Given the description of an element on the screen output the (x, y) to click on. 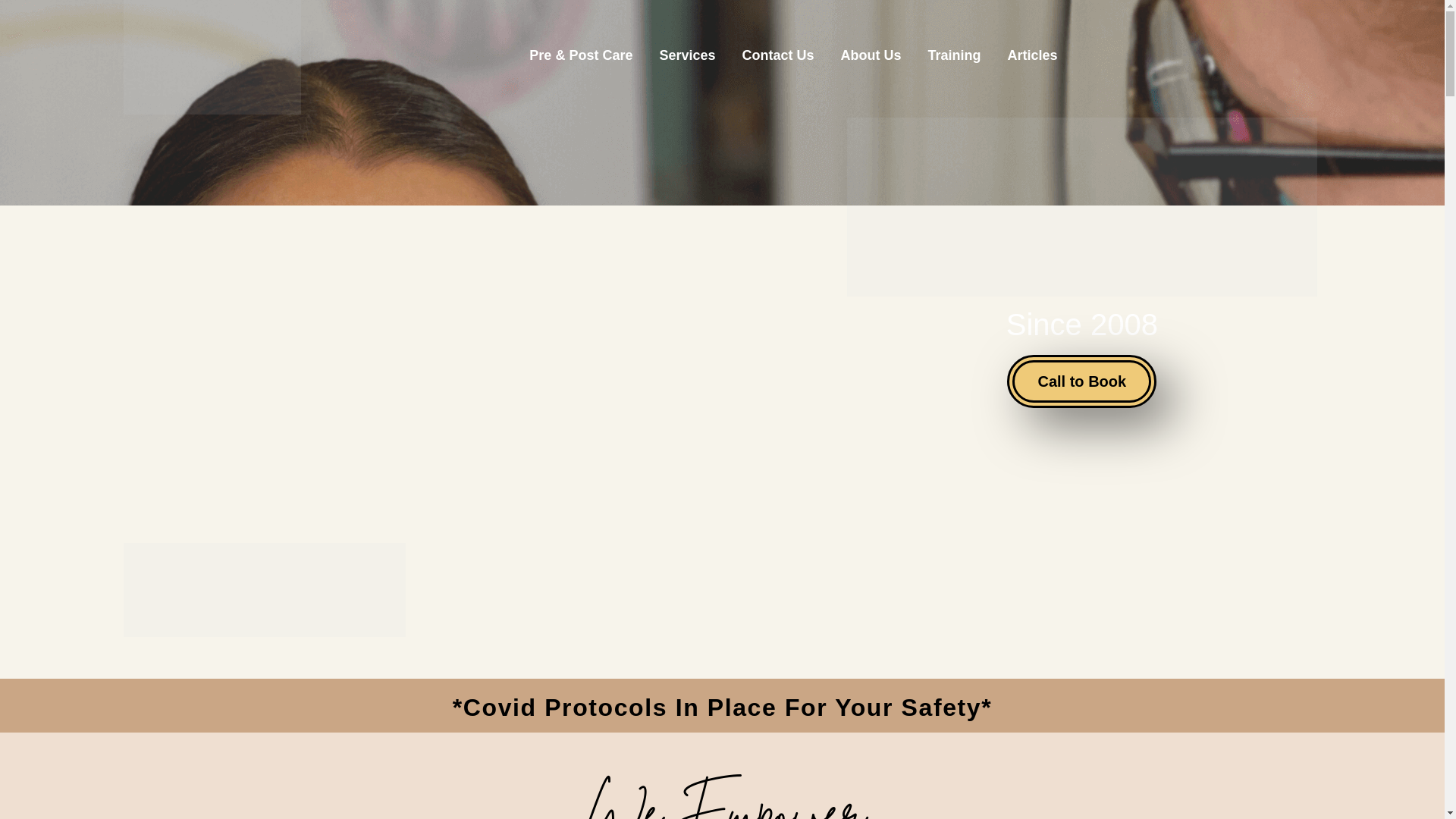
Pre & Post Care Element type: text (580, 54)
Contact Us Element type: text (777, 54)
Call to Book Element type: text (1081, 380)
About Us Element type: text (870, 54)
Articles Element type: text (1032, 54)
Training Element type: text (954, 54)
Services Element type: text (686, 54)
